Given the description of an element on the screen output the (x, y) to click on. 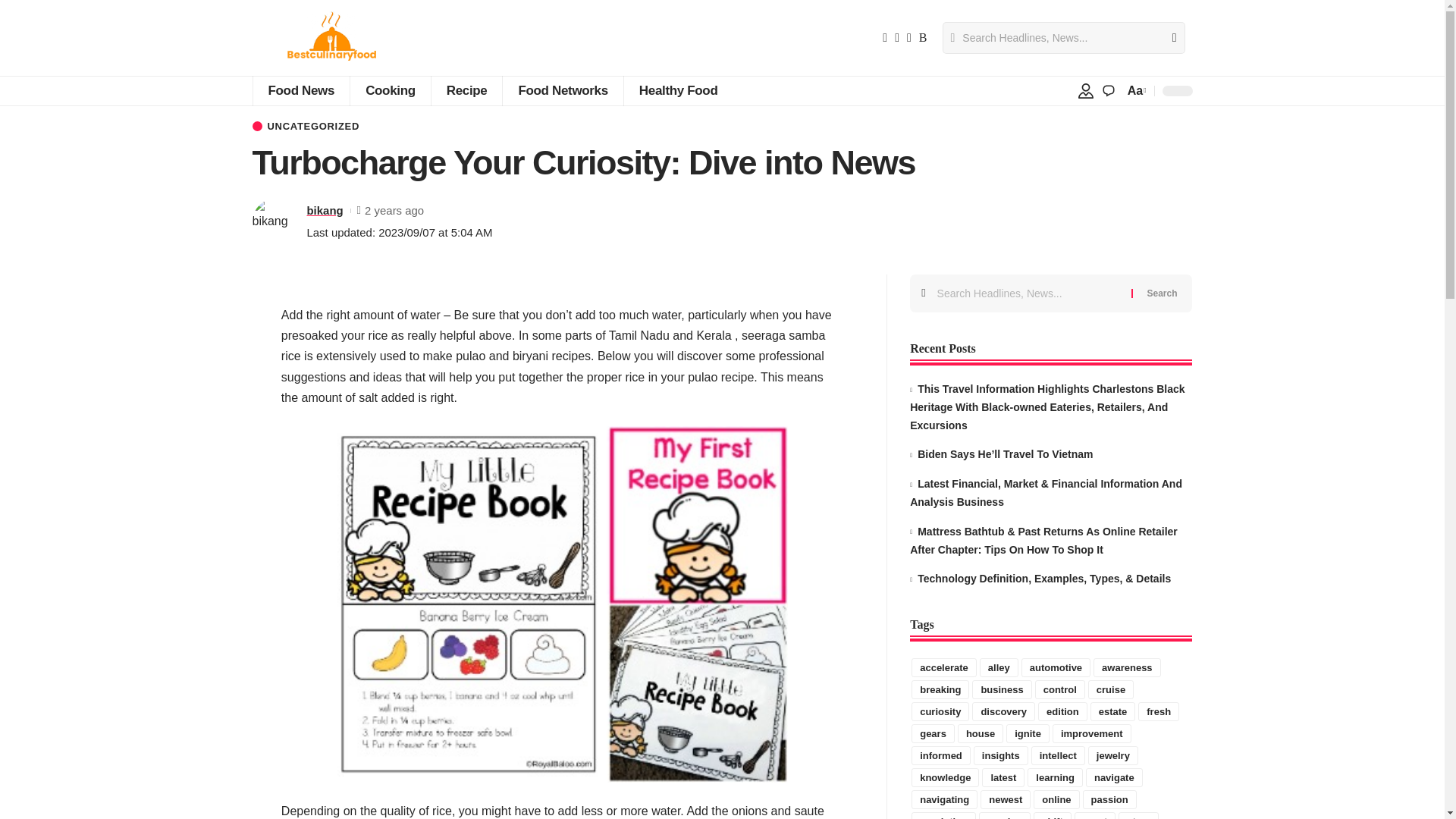
Food News (300, 91)
Search (1168, 37)
Food Networks (562, 91)
Aa (1135, 90)
UNCATEGORIZED (305, 126)
Search (1161, 293)
Cooking (389, 91)
Healthy Food (678, 91)
Recipe (466, 91)
BCF (330, 37)
